Given the description of an element on the screen output the (x, y) to click on. 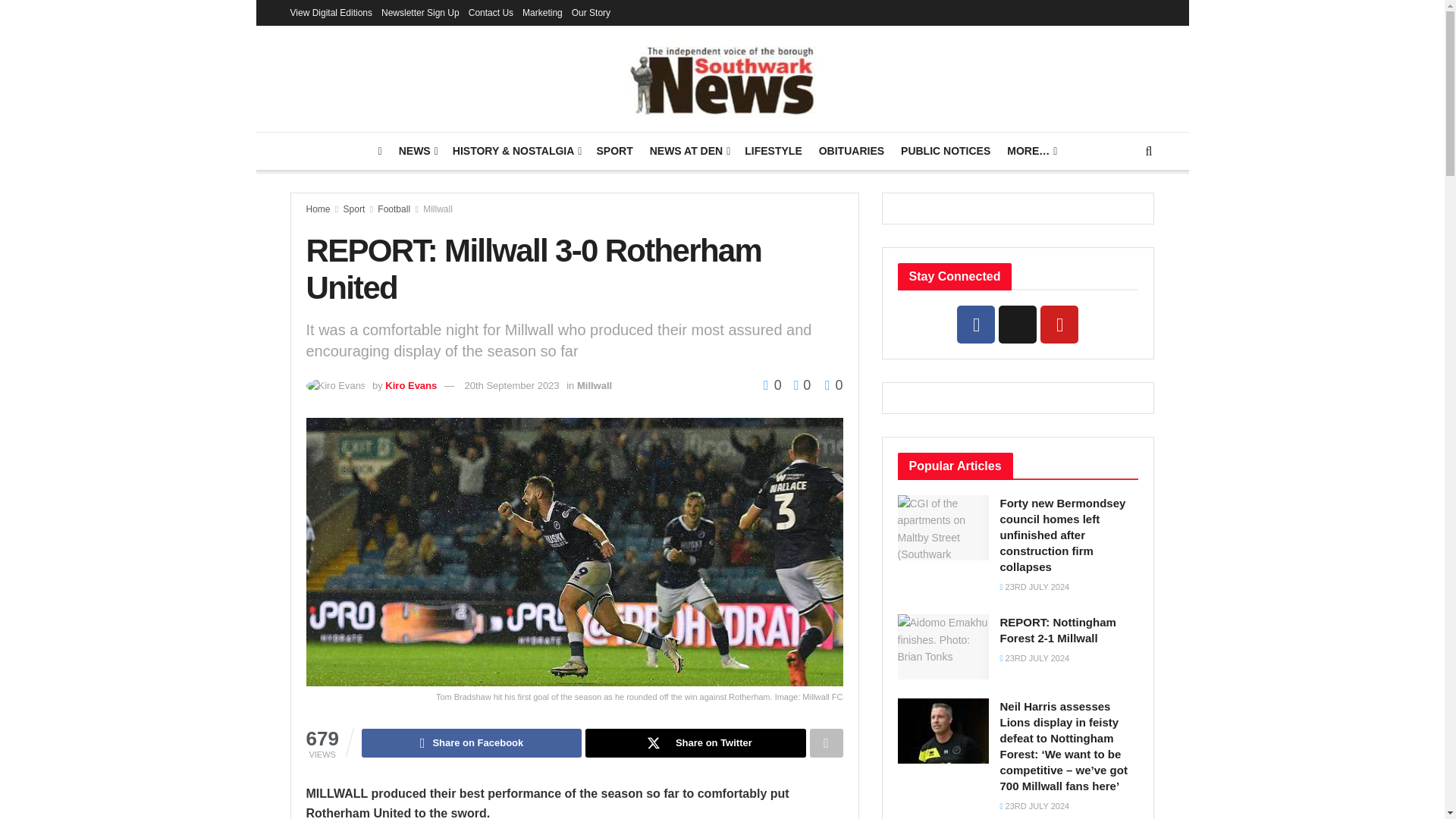
Our Story (591, 12)
Contact Us (490, 12)
Marketing (542, 12)
SPORT (613, 150)
View Digital Editions (330, 12)
NEWS AT DEN (689, 150)
Newsletter Sign Up (420, 12)
NEWS (416, 150)
